Given the description of an element on the screen output the (x, y) to click on. 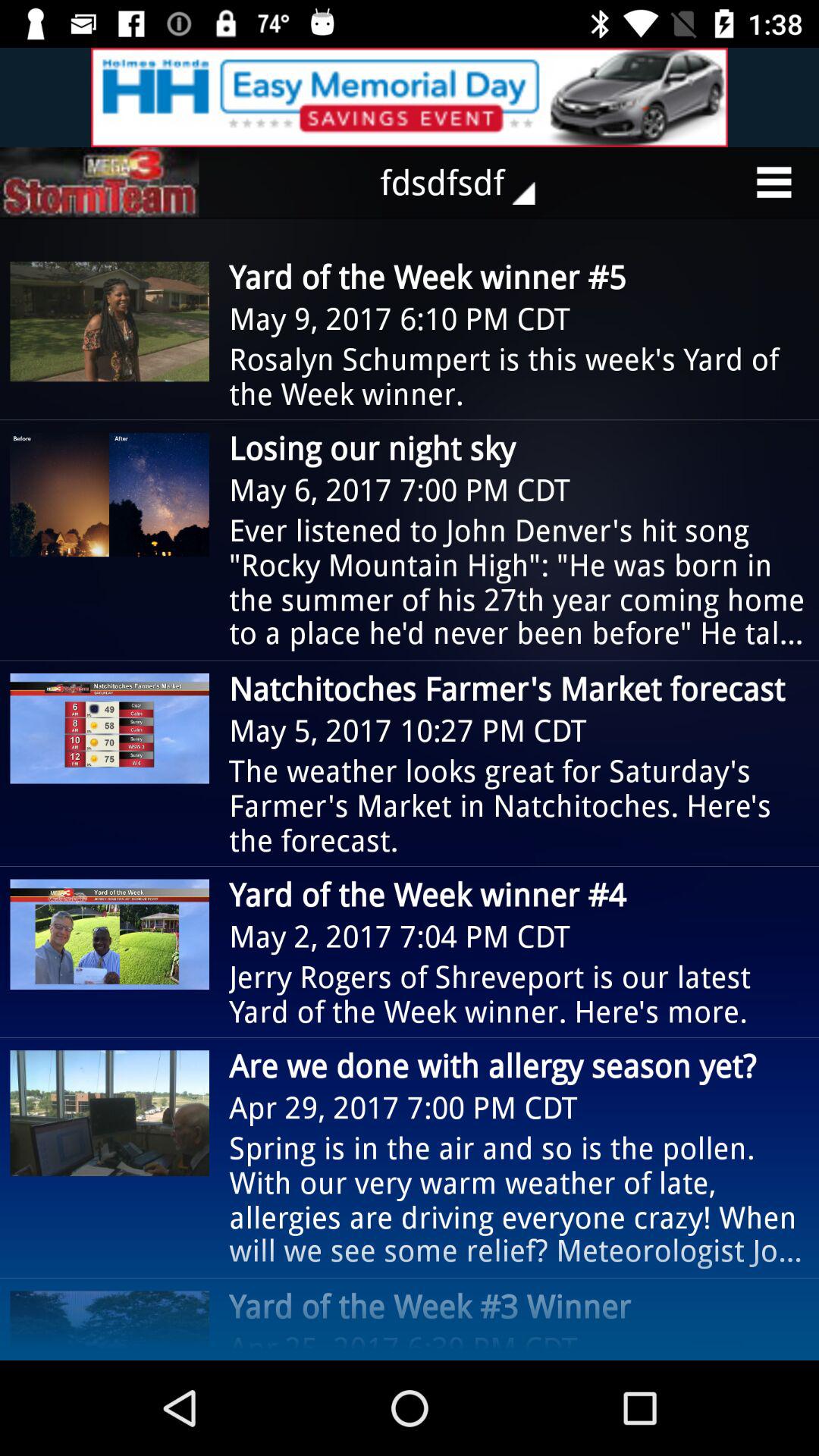
open advertisement (409, 97)
